Given the description of an element on the screen output the (x, y) to click on. 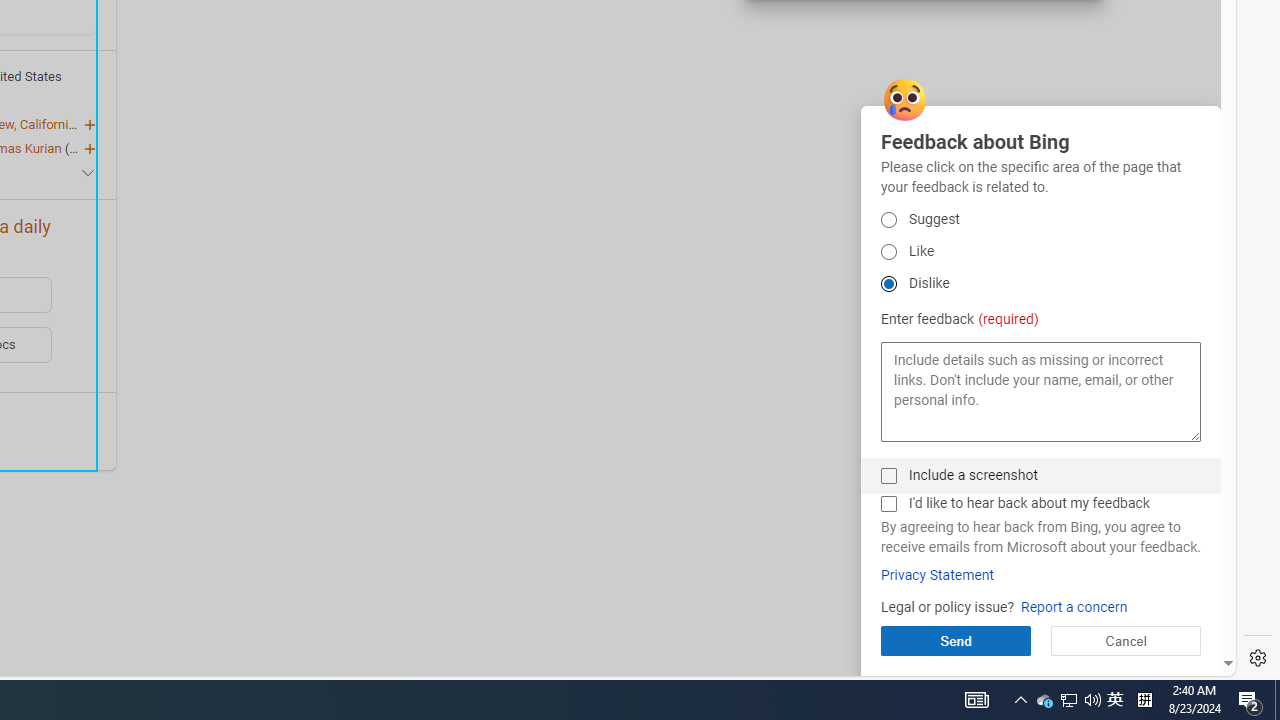
User Promoted Notification Area (1068, 699)
Show desktop (1277, 699)
Cancel (1115, 699)
Privacy Statement (1044, 699)
I'd like to hear back about my feedback (1125, 640)
Q2790: 100% (937, 575)
Like (888, 503)
Include a screenshot (1069, 699)
Send (1092, 699)
Suggest (888, 251)
Action Center, 2 new notifications (888, 475)
